Given the description of an element on the screen output the (x, y) to click on. 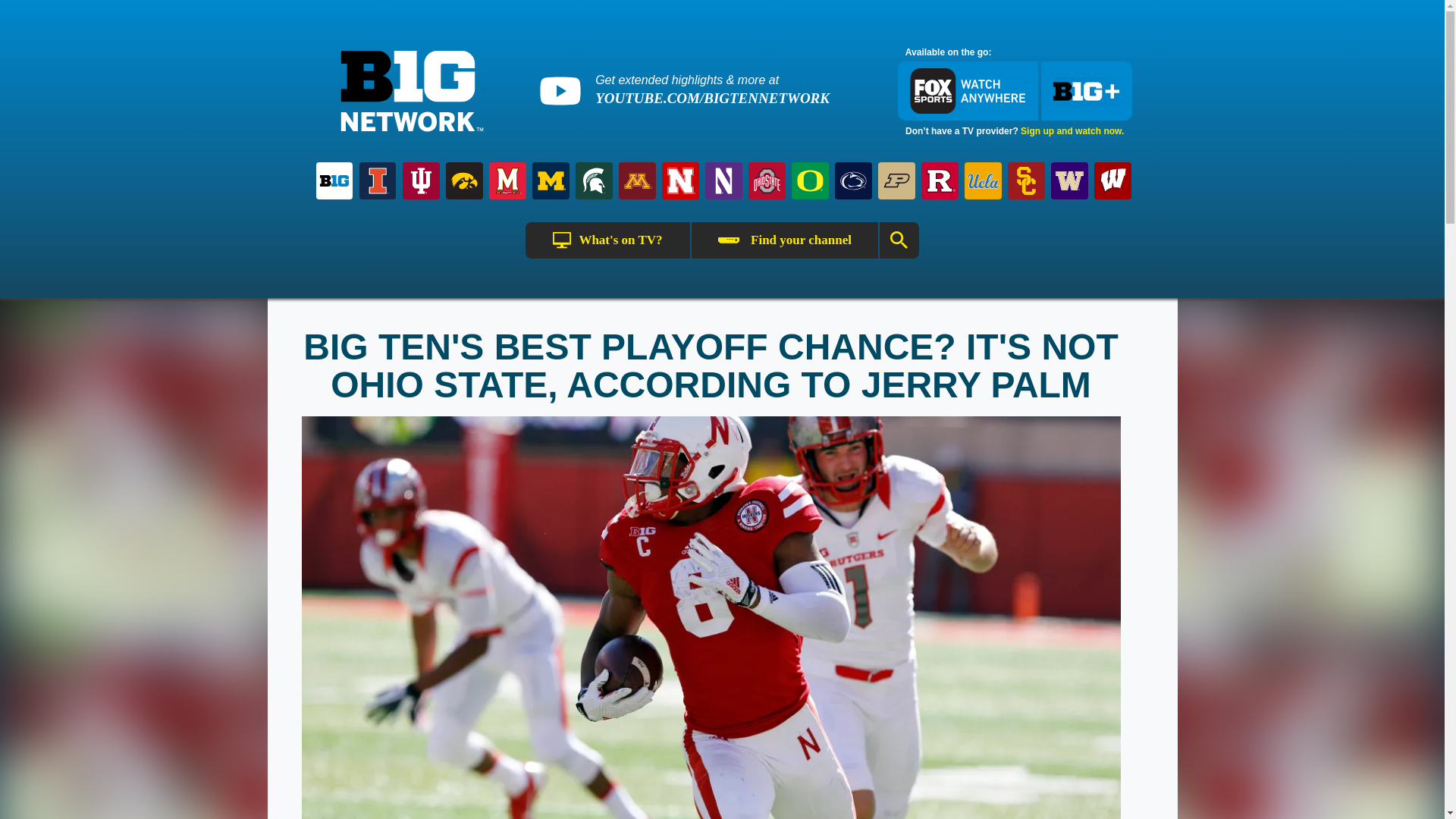
Maryland Terrapins (507, 180)
Iowa Hawkeyes (464, 180)
Northwestern Wildcats (723, 180)
Michigan Wolverines (550, 180)
Minnesota Golden Gophers (637, 180)
Big Ten Conference (334, 180)
Indiana Hoosiers (420, 180)
Ohio State Buckeyes (767, 180)
Oregon Ducks (810, 180)
Penn State Nittany Lions (853, 180)
